Given the description of an element on the screen output the (x, y) to click on. 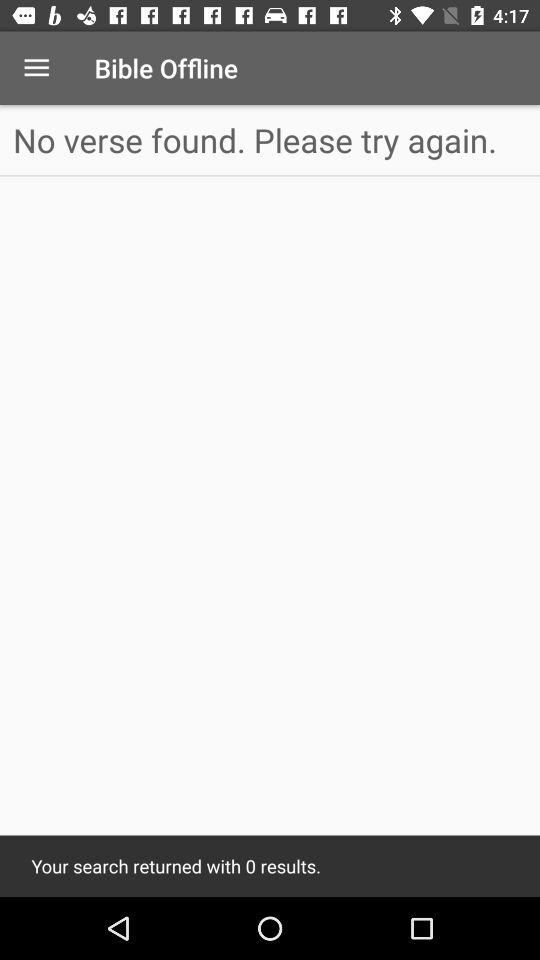
click the icon to the left of the bible offline (36, 68)
